Given the description of an element on the screen output the (x, y) to click on. 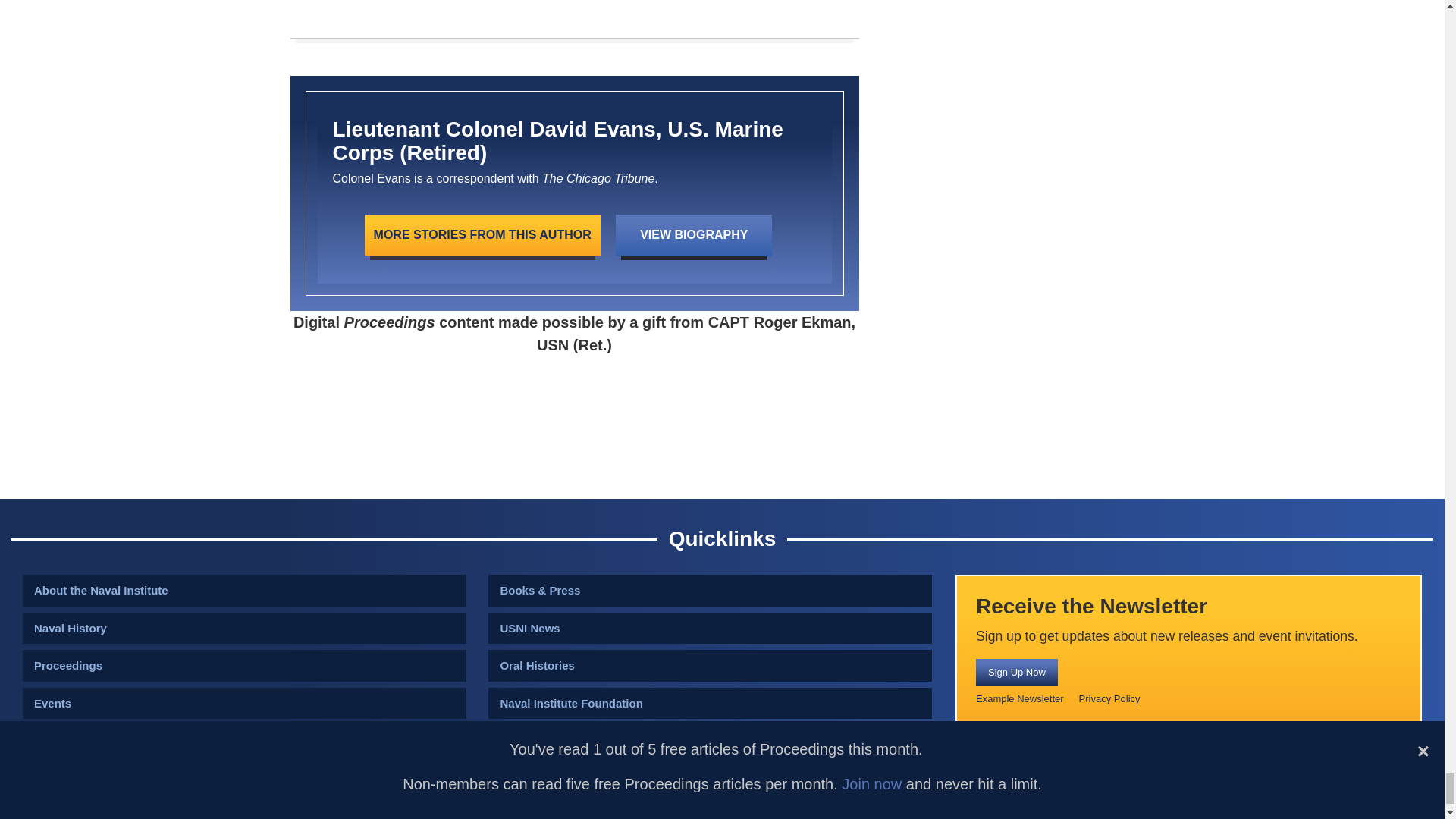
Advertise With Us (709, 739)
